Given the description of an element on the screen output the (x, y) to click on. 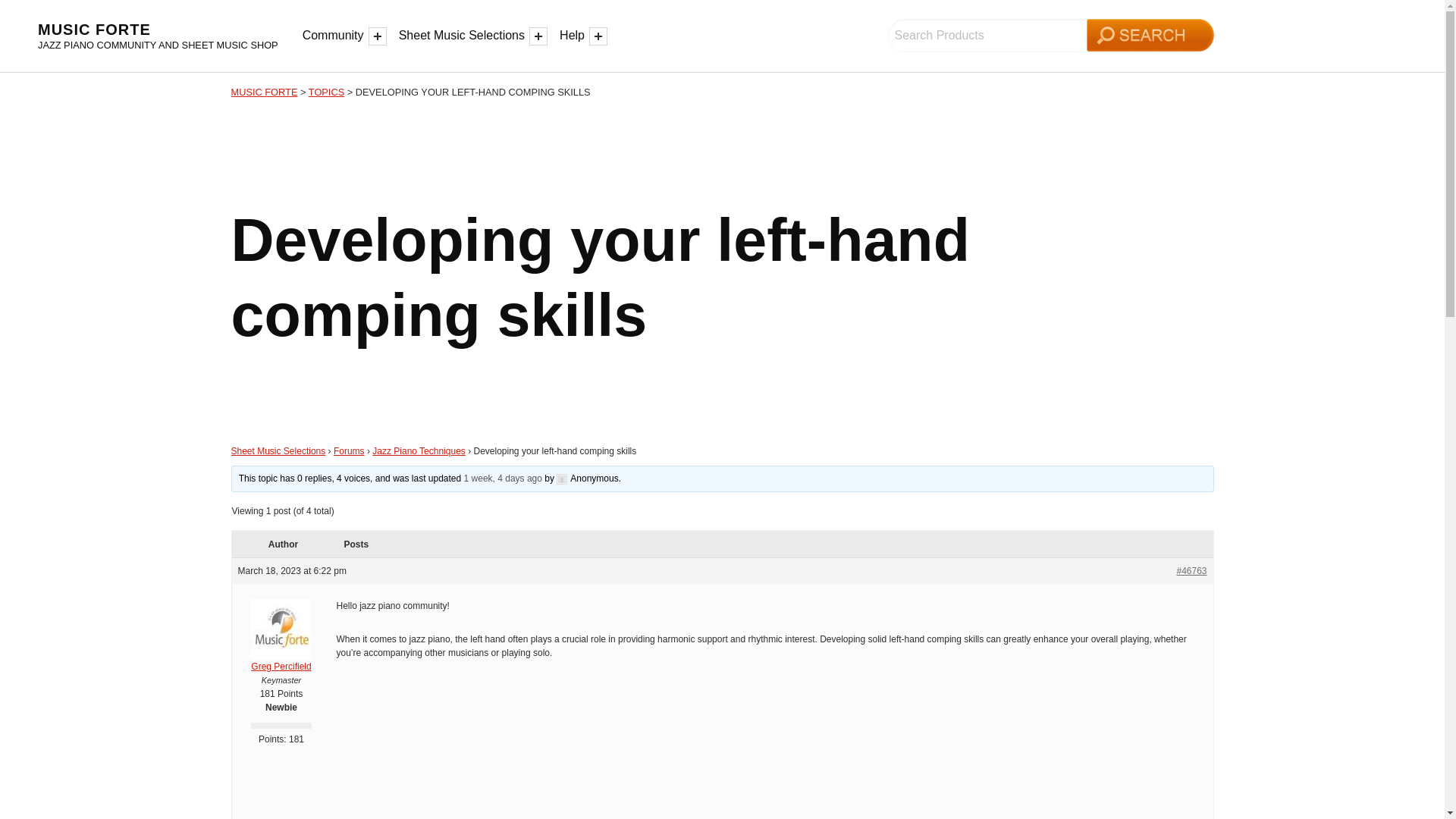
MUSIC FORTE (94, 29)
Sheet Music Selections (277, 450)
Go to Music Forte. (263, 91)
Jazz Piano Techniques (418, 450)
MUSIC FORTE (263, 91)
Developing your left-hand comping skills (502, 478)
TOPICS (325, 91)
20 Jazz Piano Comping Examples (767, 748)
Go to Topics. (325, 91)
Community (335, 36)
View Greg Percifield's profile (281, 646)
Sheet Music Selections (463, 36)
Forums (349, 450)
